Given the description of an element on the screen output the (x, y) to click on. 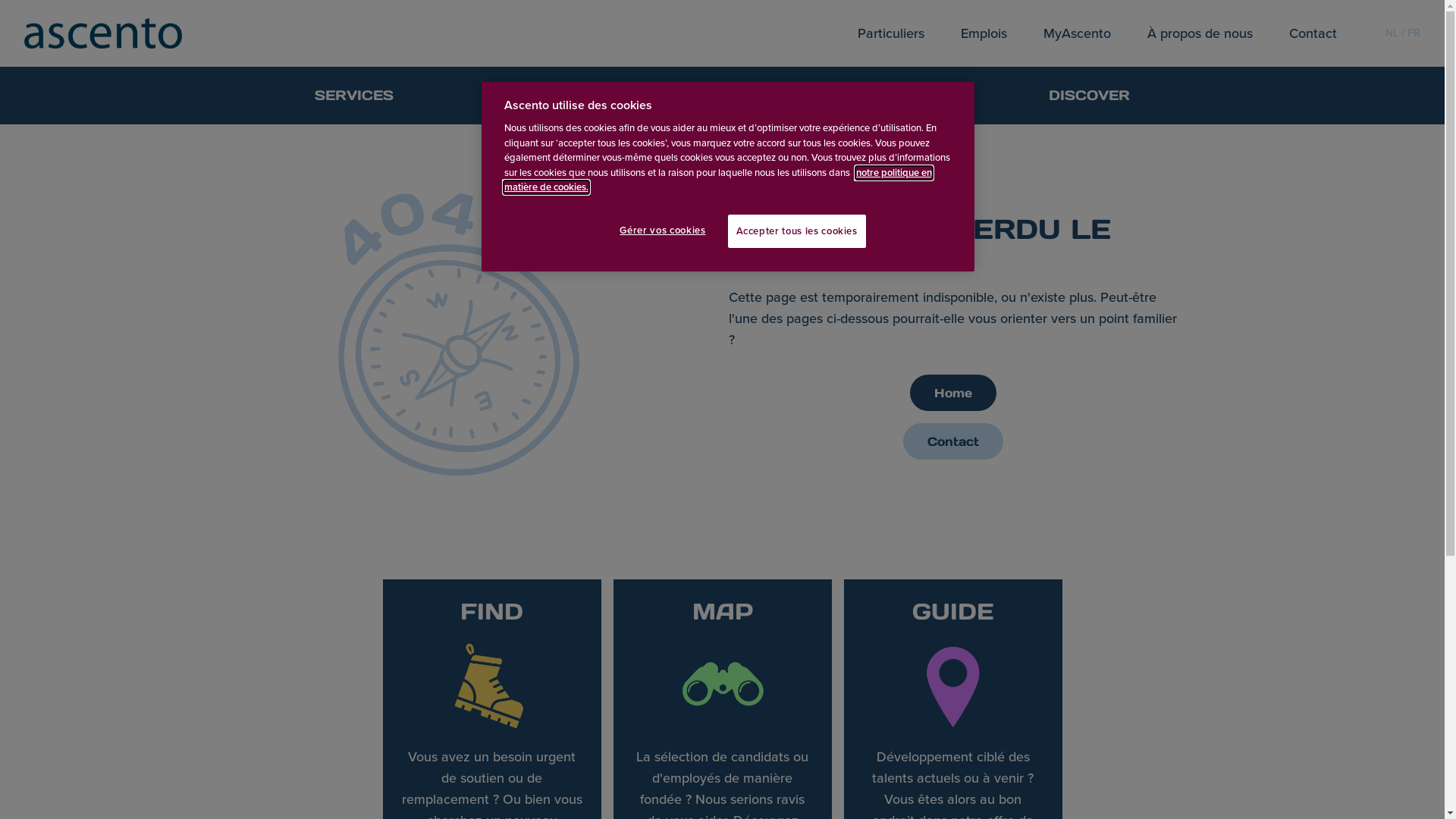
Contact Element type: text (953, 441)
MyAscento Element type: text (1076, 33)
Home Element type: text (953, 392)
Contact Element type: text (1312, 33)
GUIDE Element type: text (890, 94)
FIND Element type: text (545, 94)
FR Element type: text (1413, 32)
Contact Element type: text (953, 441)
DISCOVER Element type: text (1088, 94)
Home Element type: text (953, 392)
NL Element type: text (1391, 32)
SERVICES Element type: text (353, 94)
MAP Element type: text (715, 94)
Emplois Element type: text (983, 33)
Particuliers Element type: text (890, 33)
Accepter tous les cookies Element type: text (797, 230)
